Given the description of an element on the screen output the (x, y) to click on. 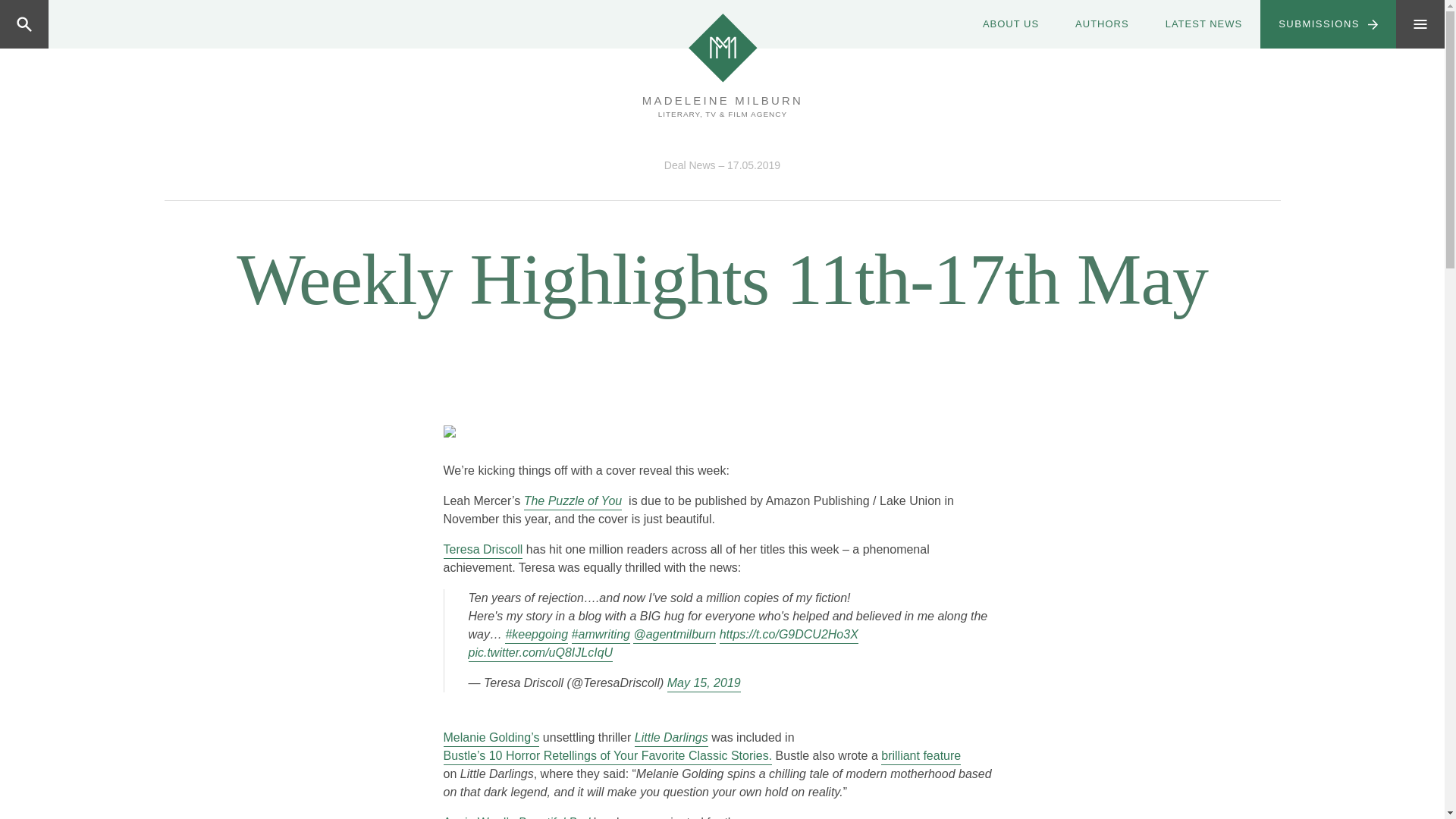
SUBMISSIONS (1328, 24)
Teresa Driscoll (482, 549)
Little Darlings (670, 737)
The Puzzle of You (573, 501)
brilliant feature (920, 755)
LATEST NEWS (1203, 24)
ABOUT US (1010, 24)
May 15, 2019 (703, 683)
AUTHORS (1102, 24)
Search (84, 24)
